Given the description of an element on the screen output the (x, y) to click on. 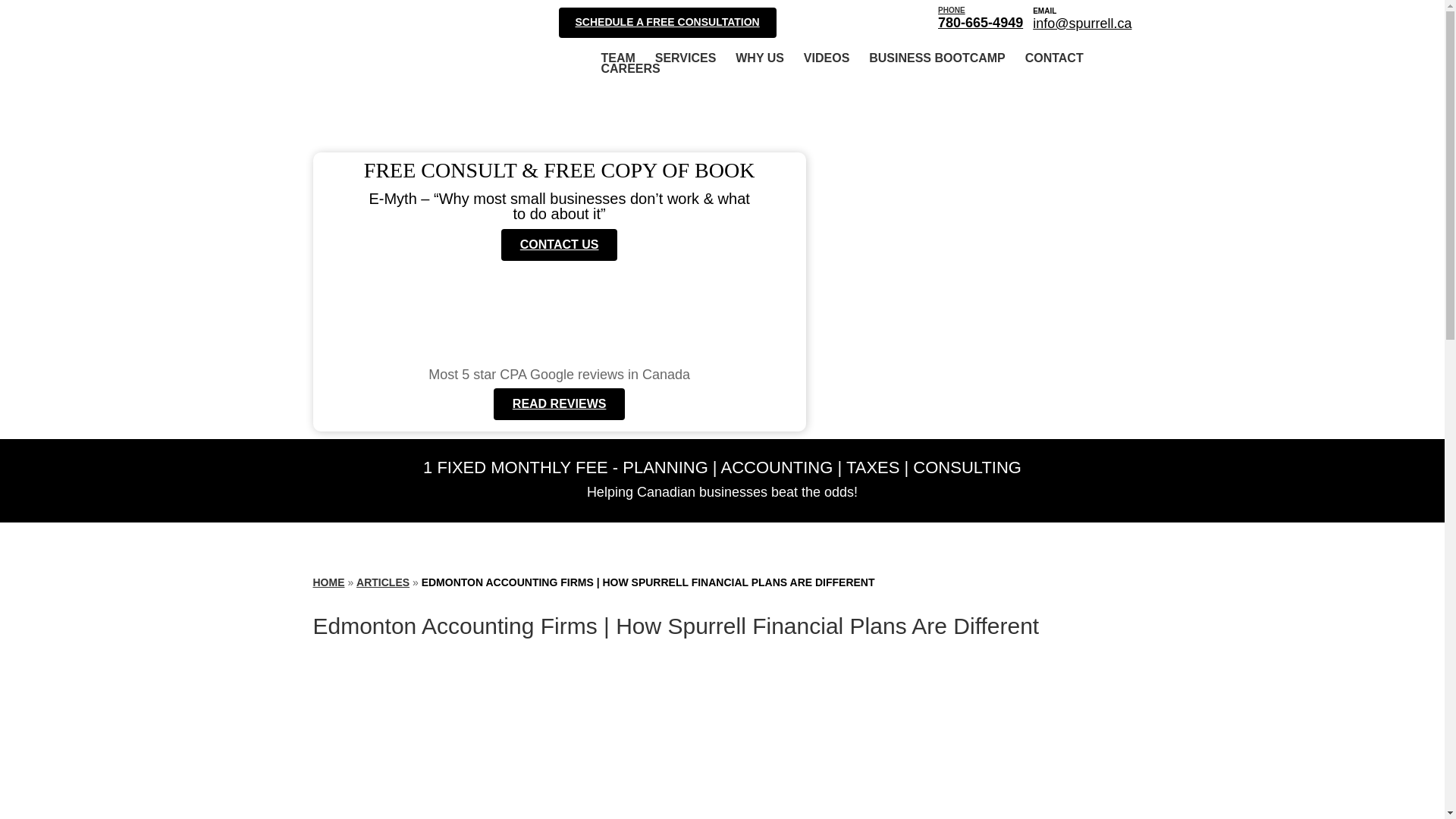
SERVICES (685, 58)
CAREERS (629, 68)
TEAM (616, 58)
ARTICLES (382, 582)
CONTACT US (558, 245)
SCHEDULE A FREE CONSULTATION (666, 22)
HOME (980, 16)
BUSINESS BOOTCAMP (328, 582)
WHY US (937, 58)
